Given the description of an element on the screen output the (x, y) to click on. 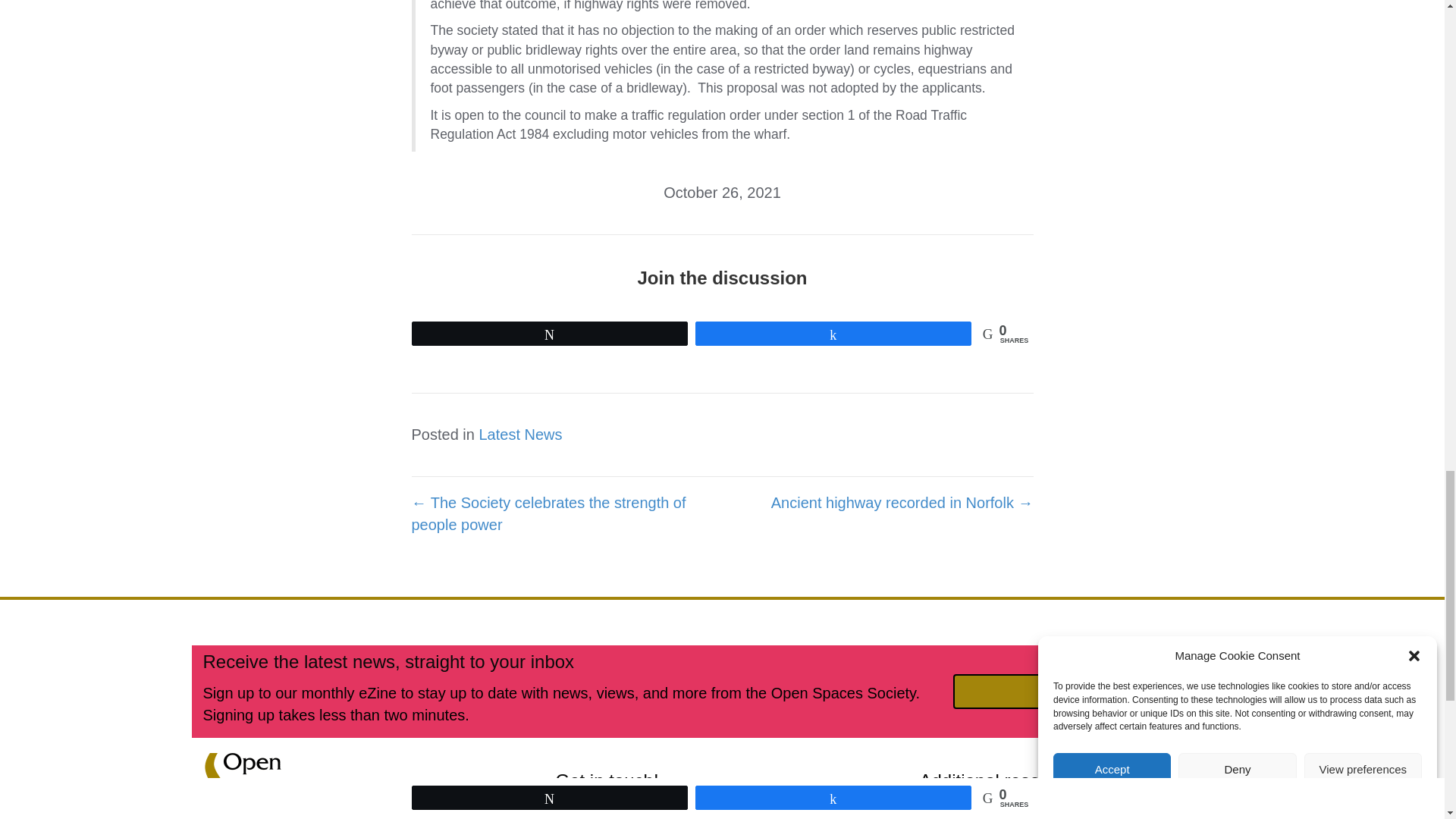
oss-logo (247, 785)
